Given the description of an element on the screen output the (x, y) to click on. 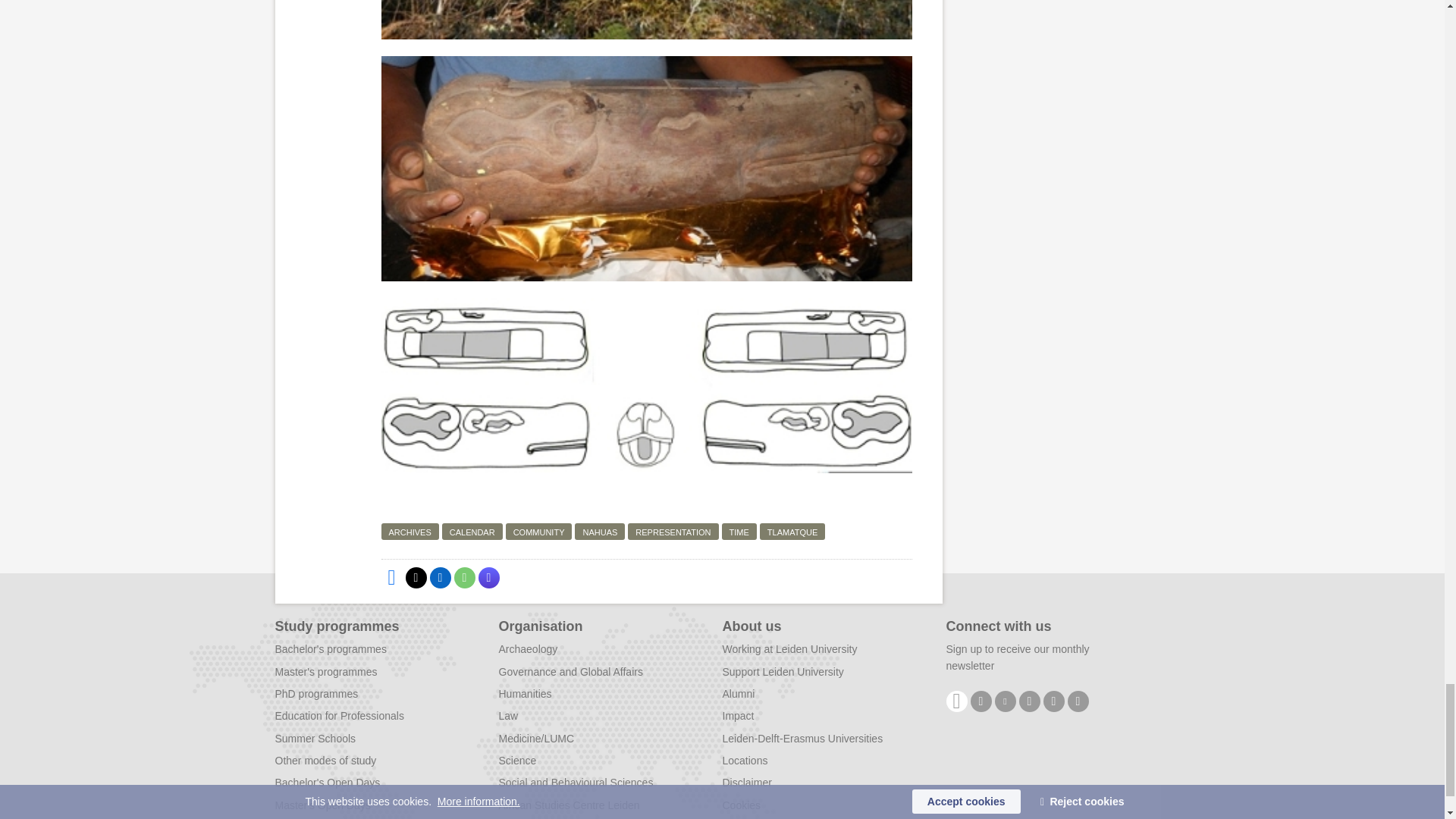
ARCHIVES (409, 531)
CALENDAR (472, 531)
Share on LinkedIn (439, 577)
COMMUNITY (538, 531)
Share on X (415, 577)
Share by WhatsApp (463, 577)
NAHUAS (599, 531)
Share on Facebook (390, 577)
Share by Mastodon (488, 577)
